Given the description of an element on the screen output the (x, y) to click on. 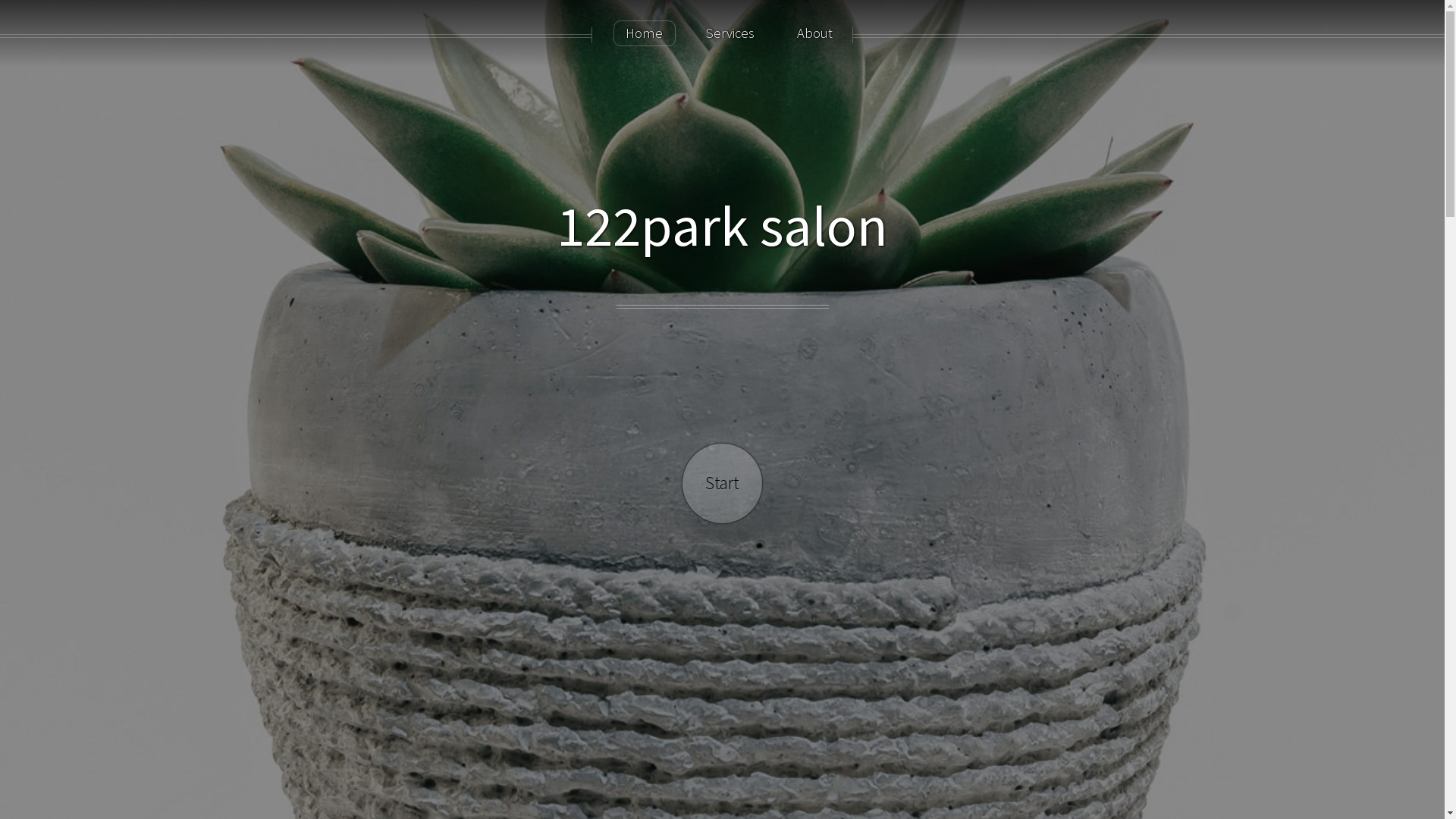
Start Element type: text (722, 483)
